Given the description of an element on the screen output the (x, y) to click on. 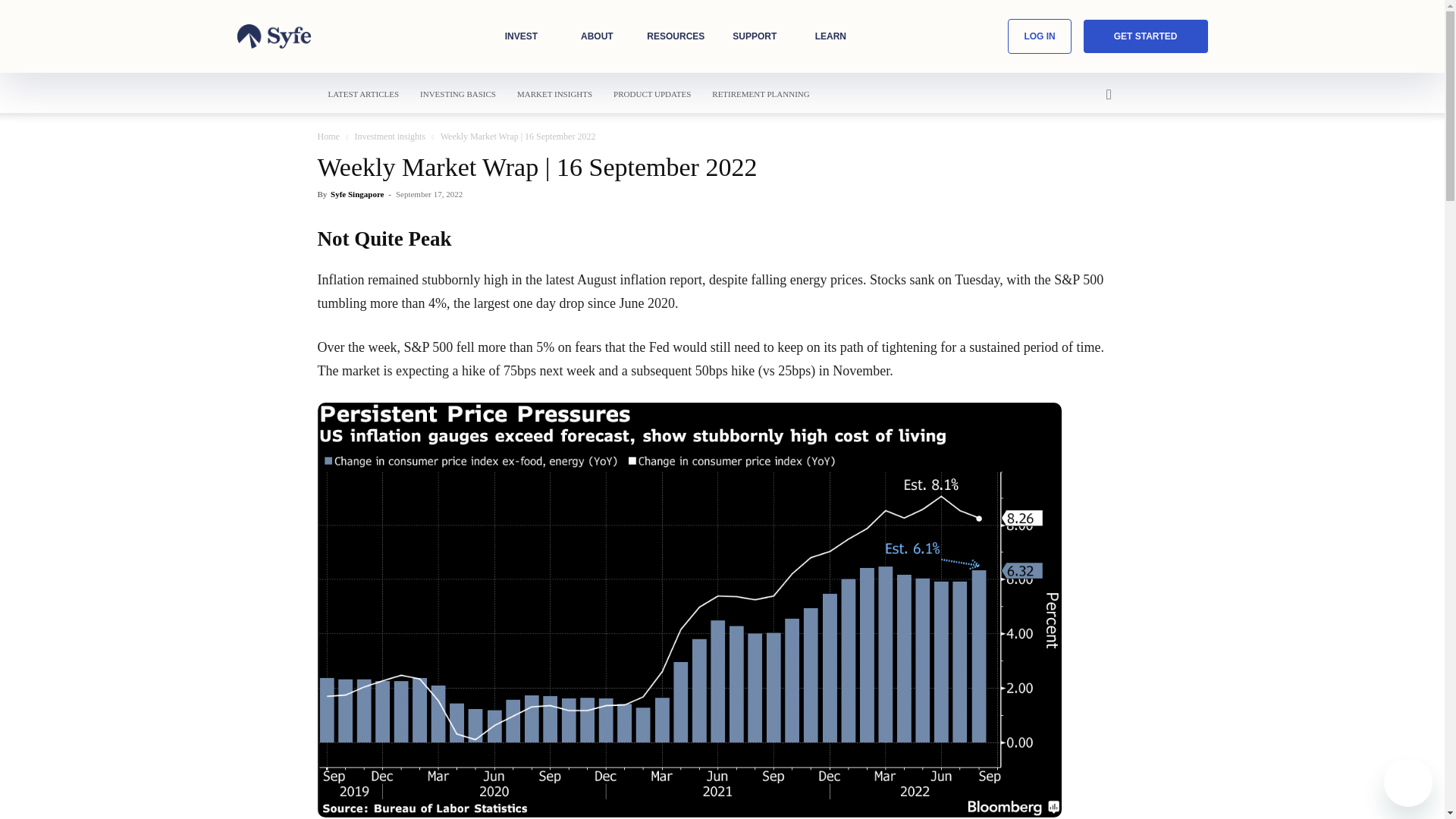
View all posts in Investment insights (389, 136)
Button to launch messaging window (1408, 782)
